Given the description of an element on the screen output the (x, y) to click on. 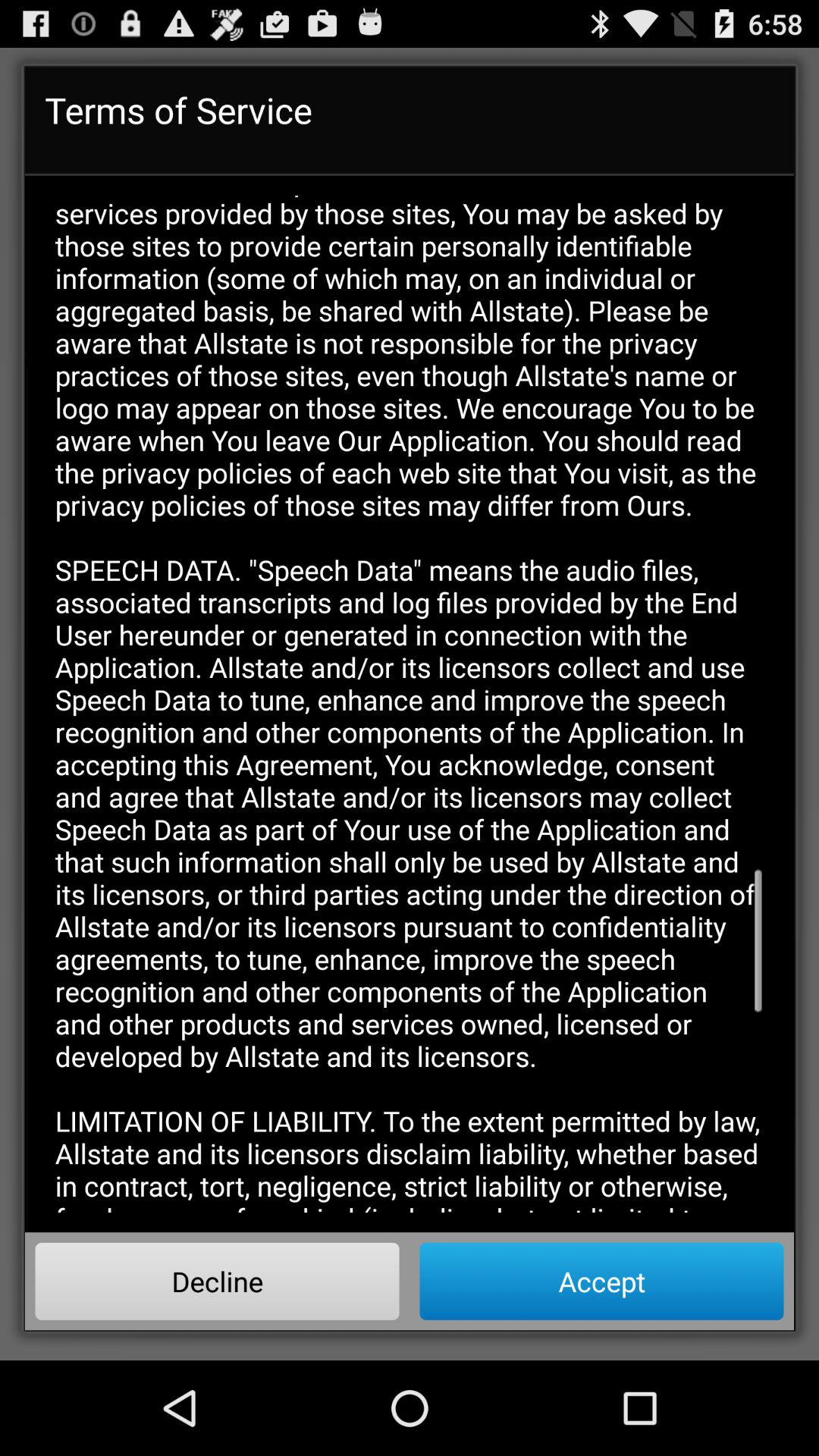
turn on app below last updated august (217, 1281)
